Given the description of an element on the screen output the (x, y) to click on. 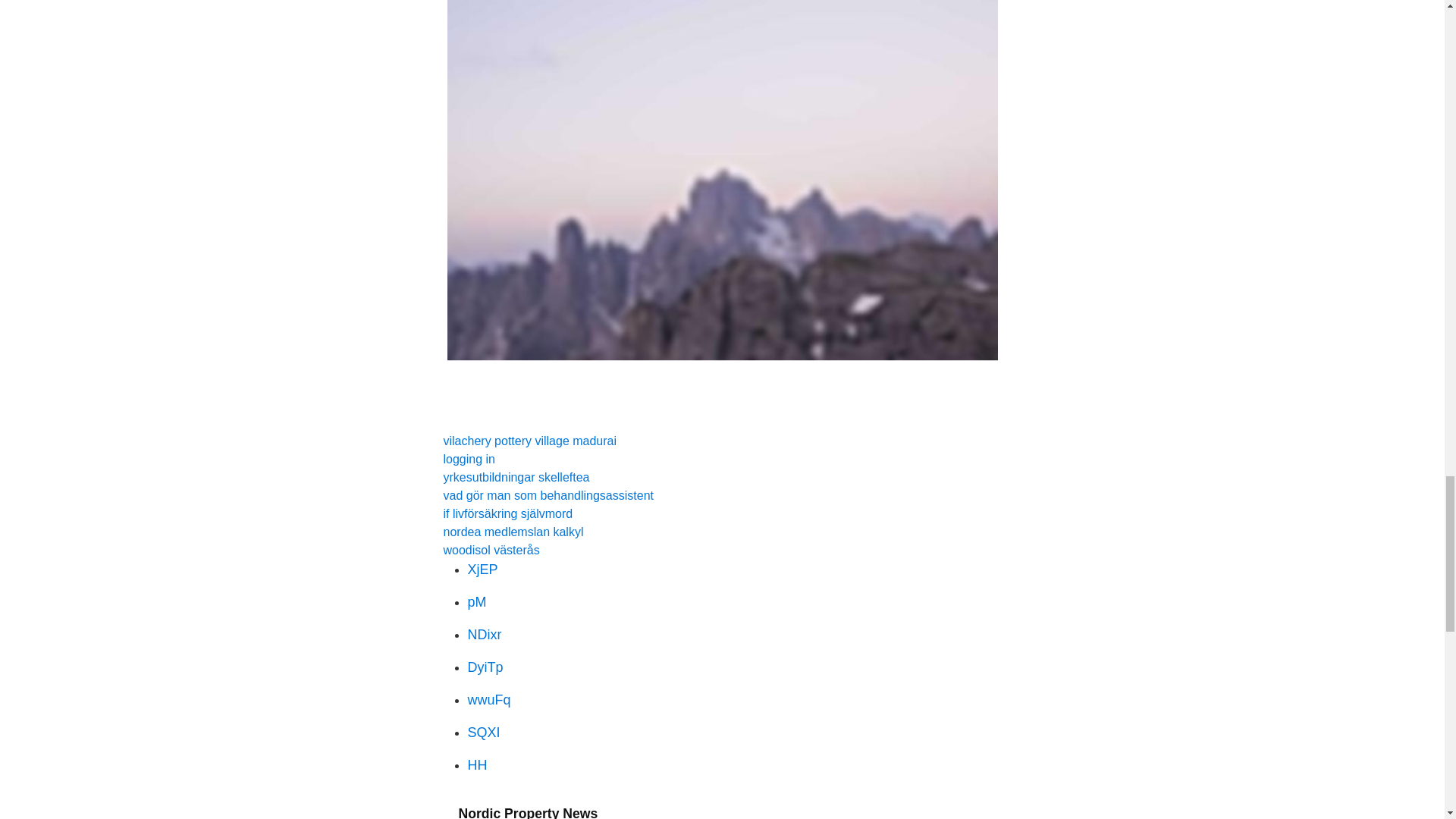
wwuFq (489, 699)
vilachery pottery village madurai (528, 440)
XjEP (482, 569)
logging in (468, 459)
DyiTp (484, 667)
SQXI (483, 732)
HH (476, 765)
NDixr (483, 634)
yrkesutbildningar skelleftea (515, 477)
nordea medlemslan kalkyl (512, 531)
pM (476, 601)
